Given the description of an element on the screen output the (x, y) to click on. 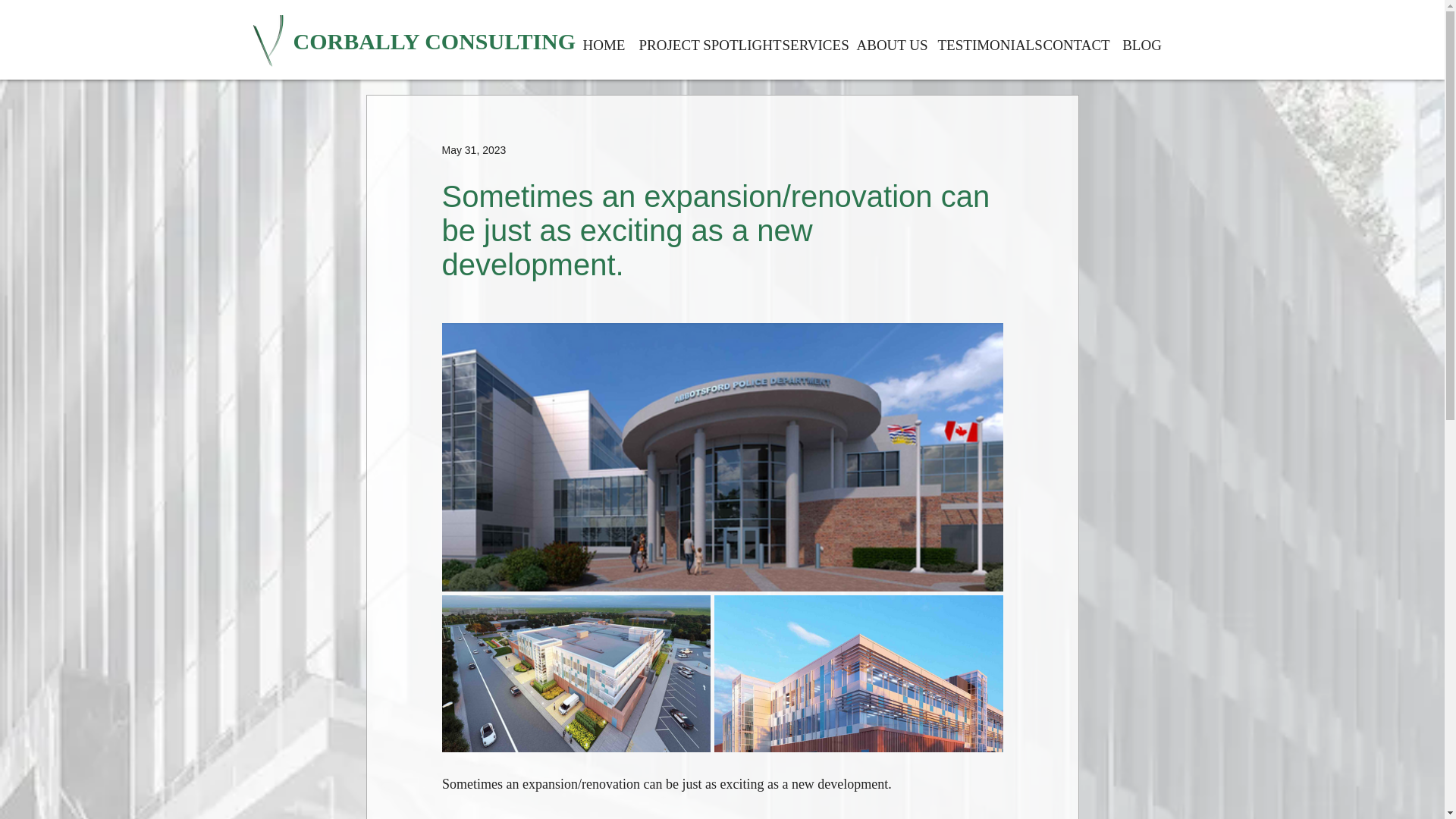
SERVICES (813, 38)
May 31, 2023 (473, 150)
ABOUT US (890, 38)
CORBALLY CONSULTING (433, 41)
CONTACT (1075, 38)
PROJECT SPOTLIGHT (703, 38)
BLOG (1142, 38)
TESTIMONIALS (983, 38)
HOME (603, 38)
